Given the description of an element on the screen output the (x, y) to click on. 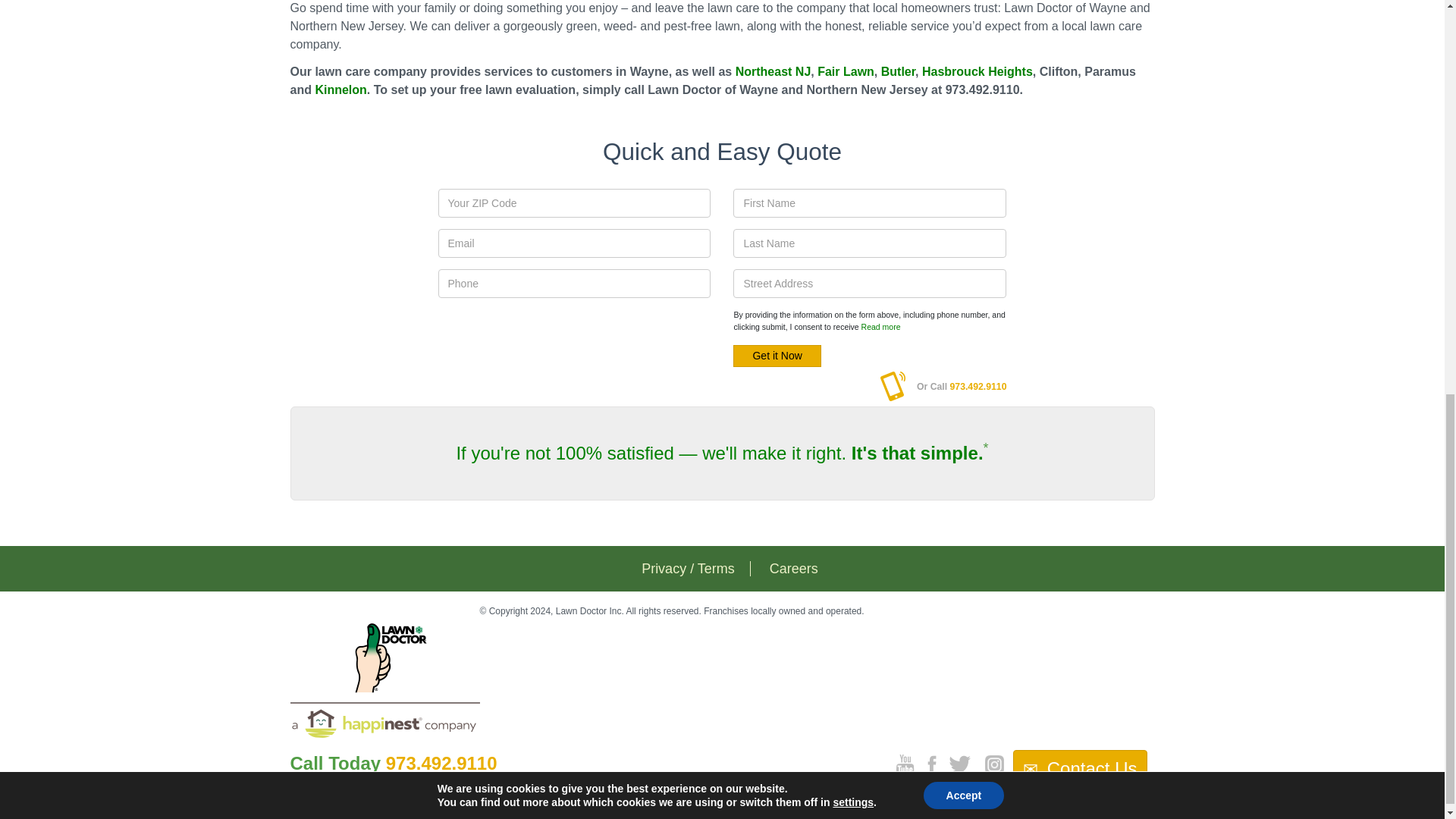
  Get it Now (777, 355)
